Given the description of an element on the screen output the (x, y) to click on. 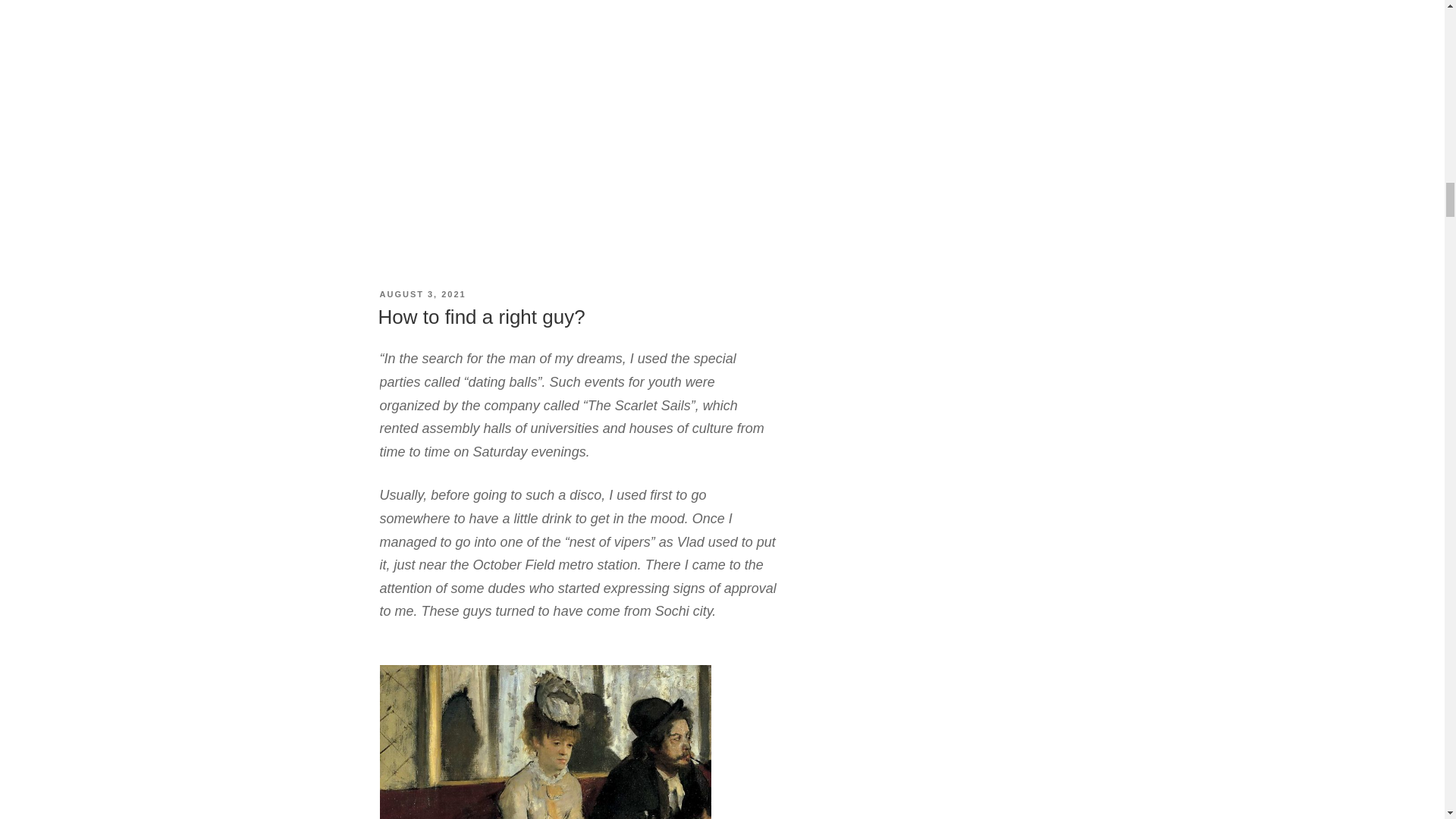
How to find a right guy? (481, 316)
AUGUST 3, 2021 (421, 293)
